Given the description of an element on the screen output the (x, y) to click on. 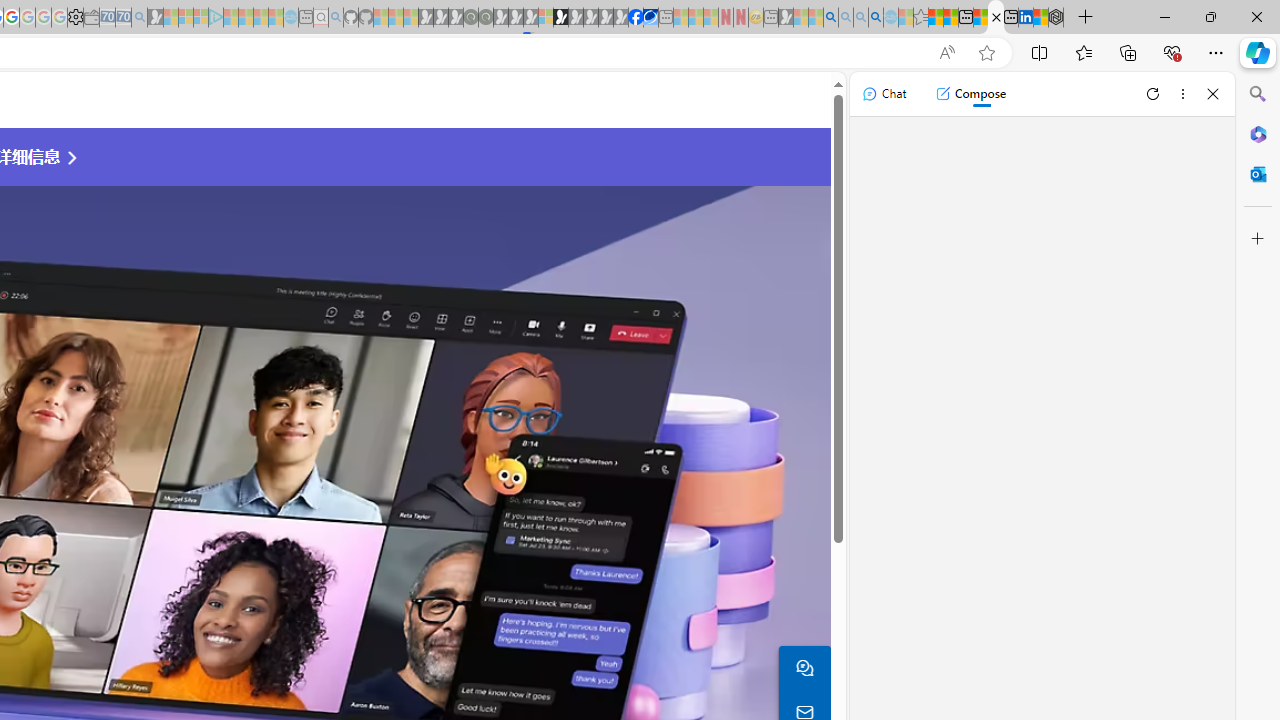
Aberdeen, Hong Kong SAR weather forecast | Microsoft Weather (950, 17)
